Given the description of an element on the screen output the (x, y) to click on. 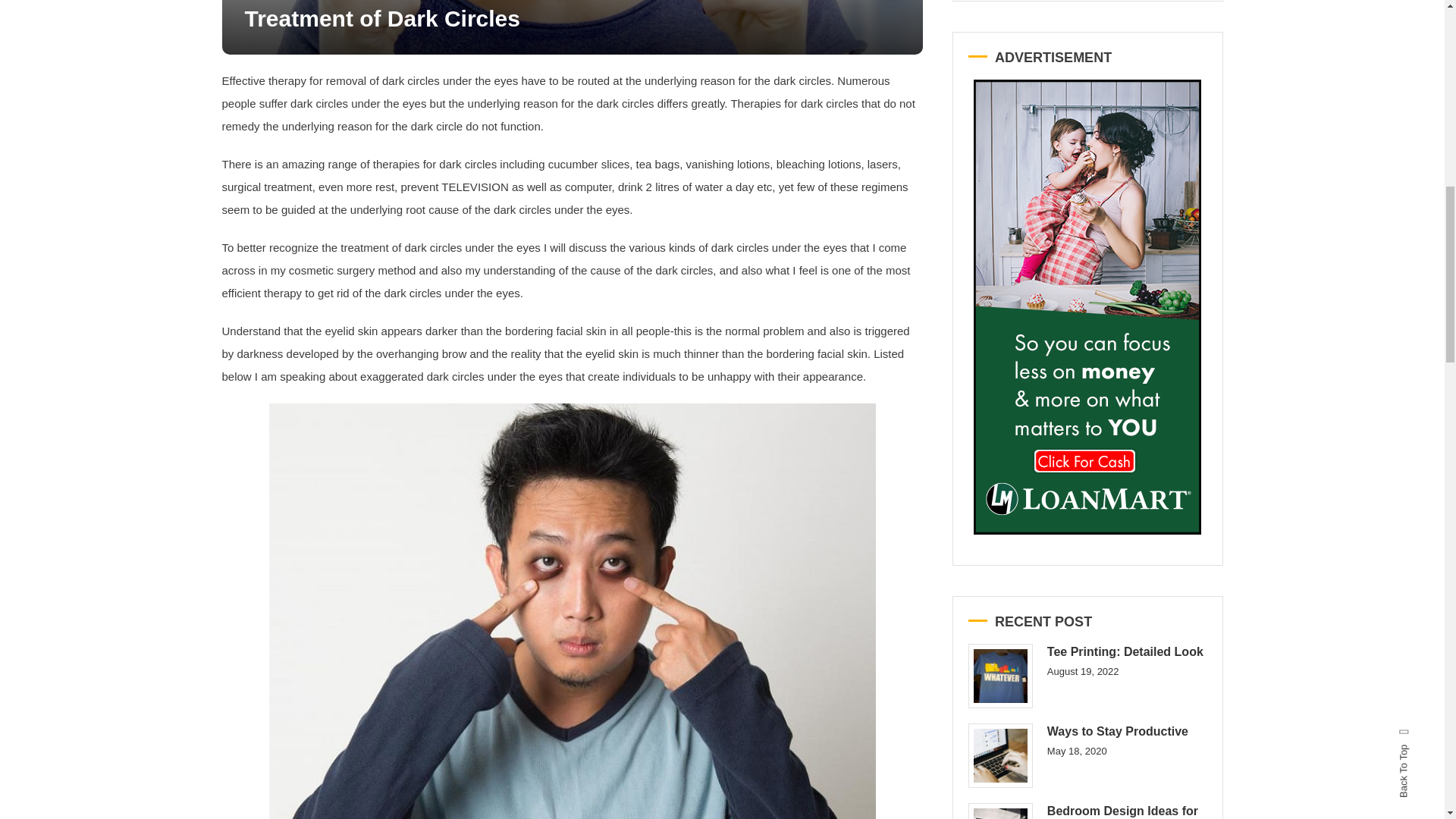
Treatment of Dark Circles (381, 18)
Ways to Stay Productive (1000, 755)
Bedroom Design Ideas for Men (1000, 811)
Tee Printing: Detailed Look (1000, 675)
